Given the description of an element on the screen output the (x, y) to click on. 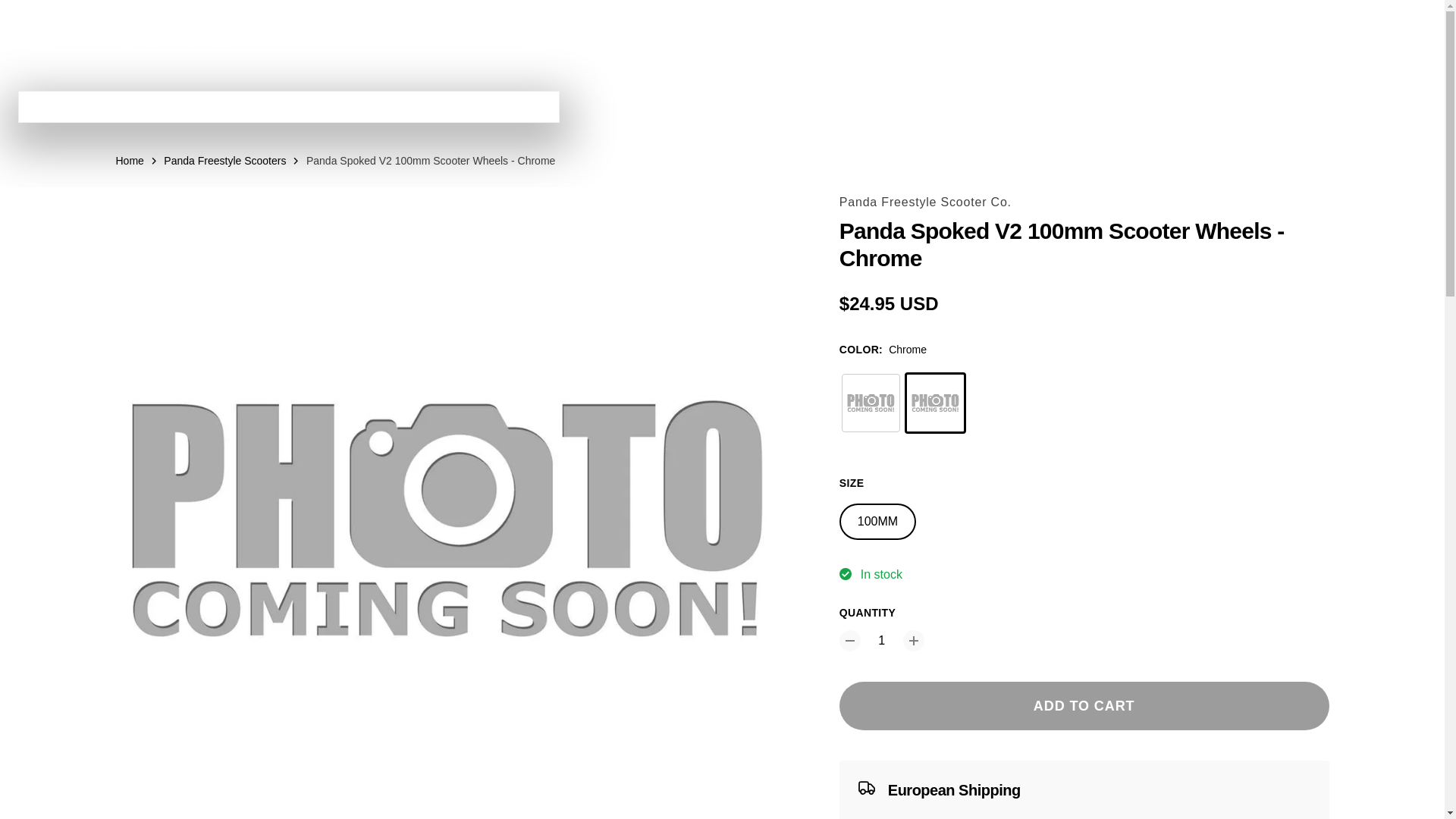
Panda Freestyle Scooter Co. (925, 201)
1 (881, 640)
STUNT SCOOTER PARTS (738, 36)
Home (128, 160)
Account (1284, 36)
STUNT SCOOTERS (575, 36)
PROTECTION (885, 36)
Search (1251, 36)
Cart (1318, 36)
